Given the description of an element on the screen output the (x, y) to click on. 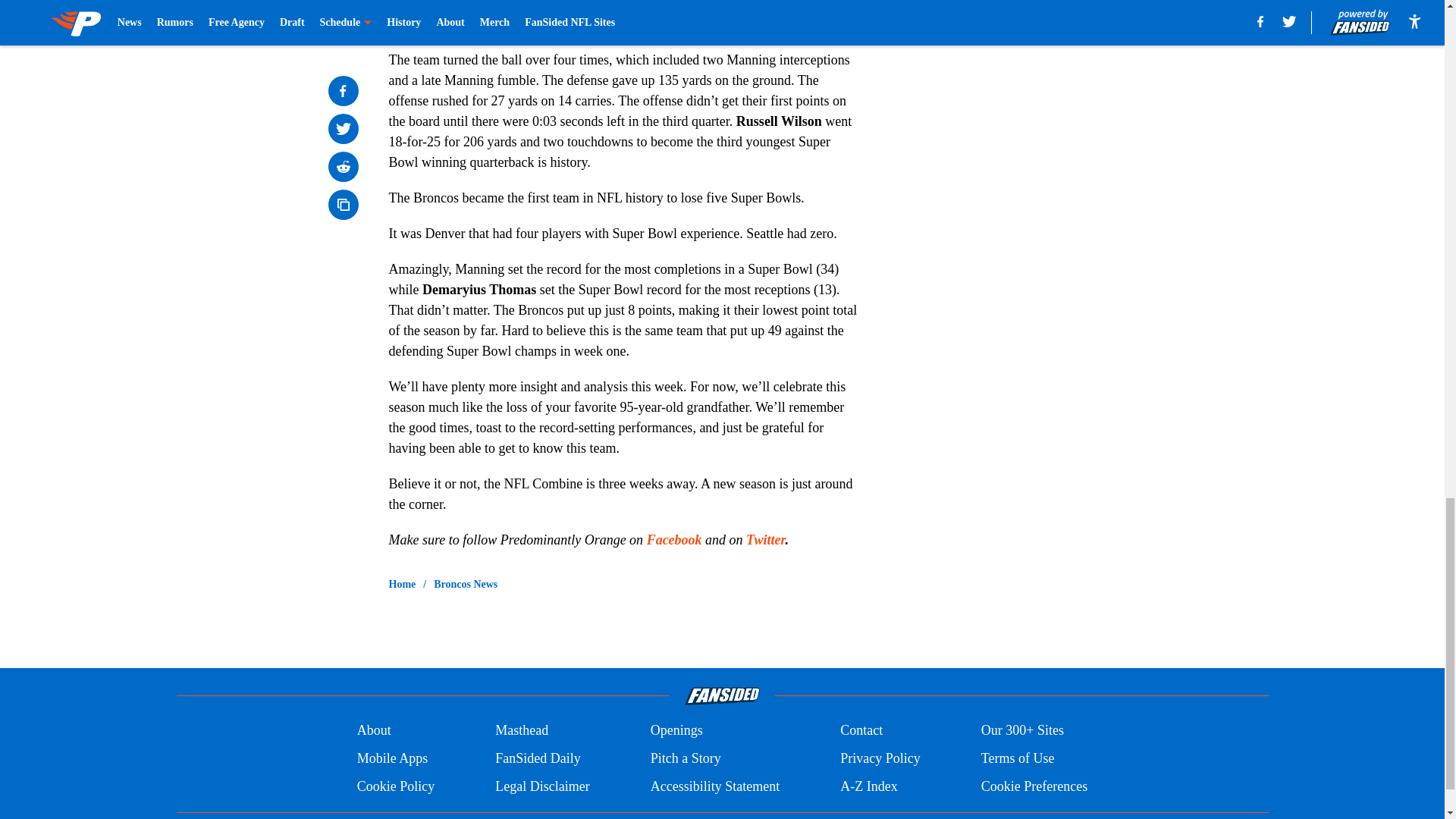
Mobile Apps (392, 758)
Terms of Use (1017, 758)
About (373, 730)
Pitch a Story (685, 758)
Broncos News (465, 584)
Cookie Preferences (1034, 786)
Contact (861, 730)
A-Z Index (868, 786)
Openings (676, 730)
Twitter (764, 539)
Accessibility Statement (714, 786)
Cookie Policy (395, 786)
Privacy Policy (880, 758)
Legal Disclaimer (542, 786)
Masthead (521, 730)
